Given the description of an element on the screen output the (x, y) to click on. 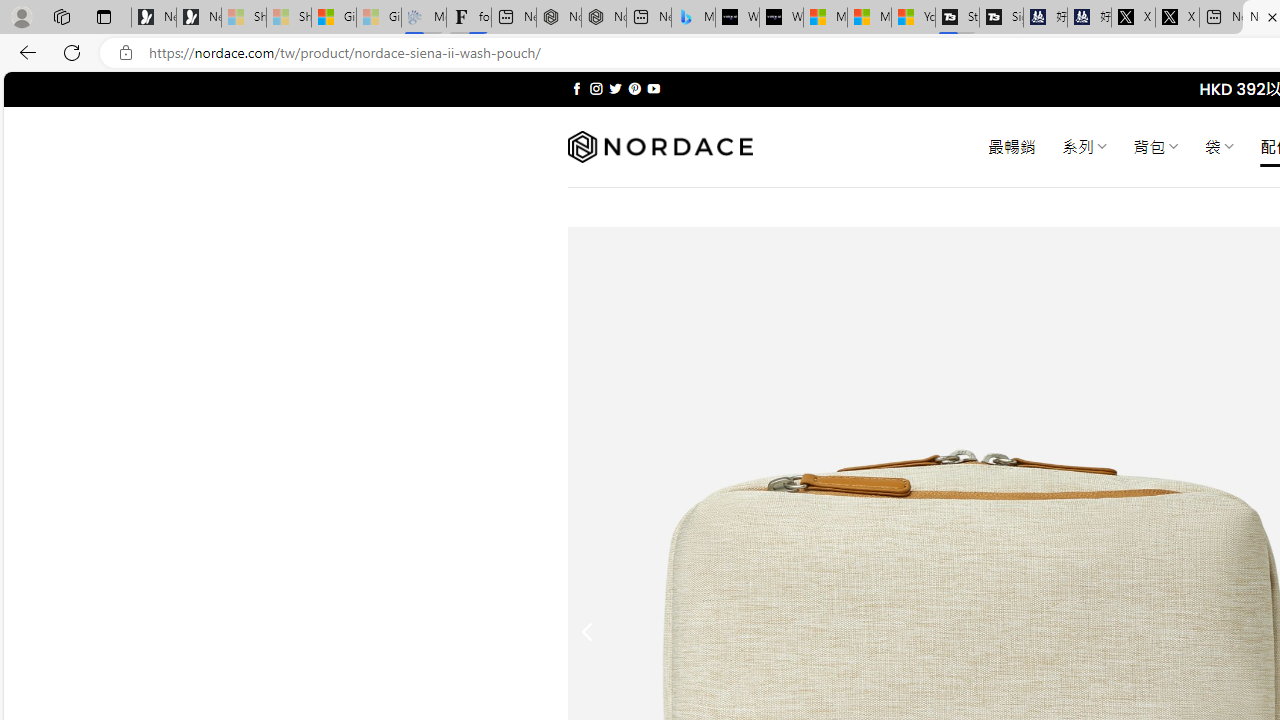
Microsoft Bing Travel - Shangri-La Hotel Bangkok (693, 17)
Follow on YouTube (653, 88)
Newsletter Sign Up (198, 17)
